Given the description of an element on the screen output the (x, y) to click on. 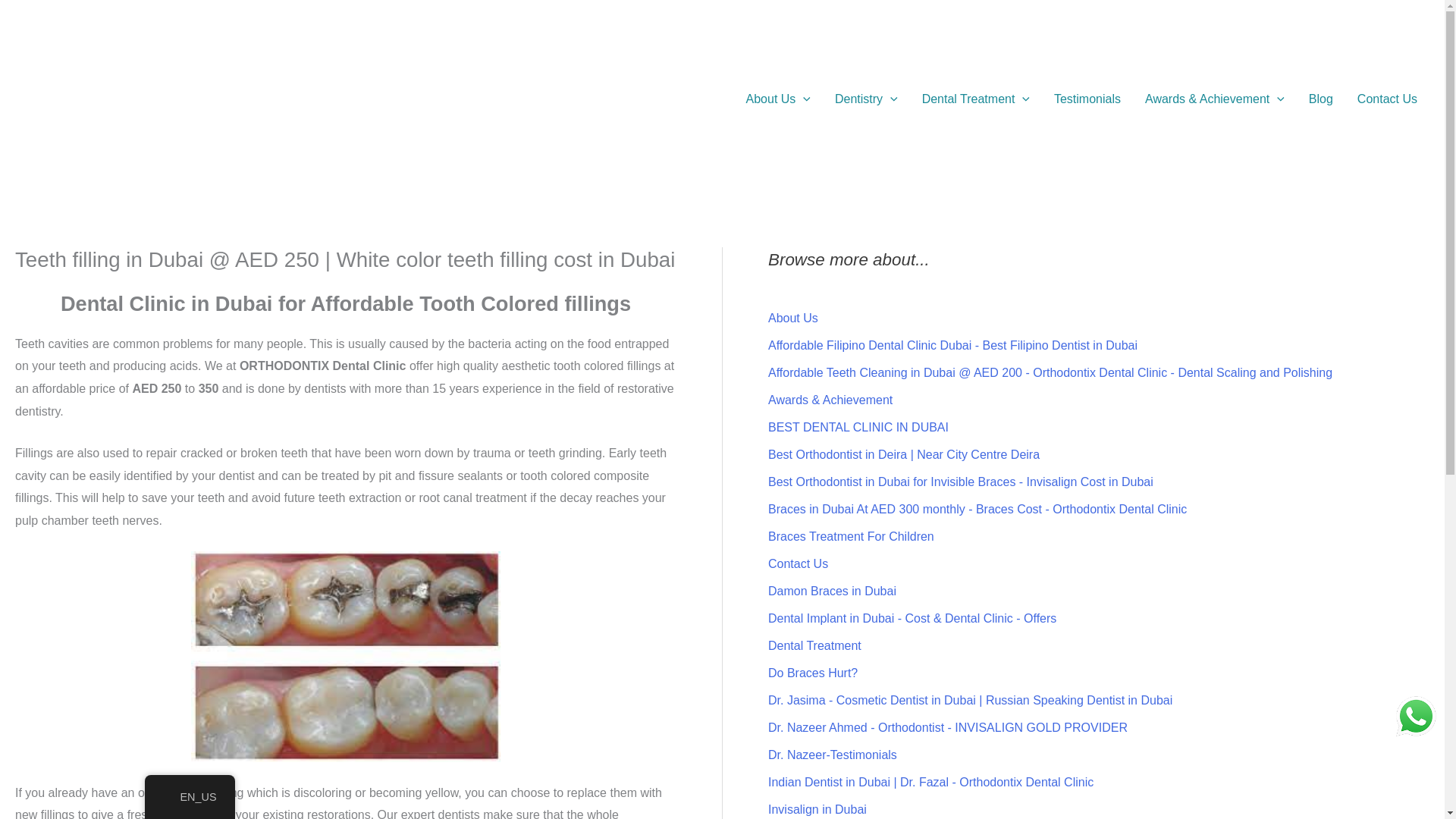
Contact Us (1387, 99)
About Us (777, 99)
Dentistry (866, 99)
Dental Treatment (976, 99)
Blog (1321, 99)
Testimonials (1087, 99)
